Given the description of an element on the screen output the (x, y) to click on. 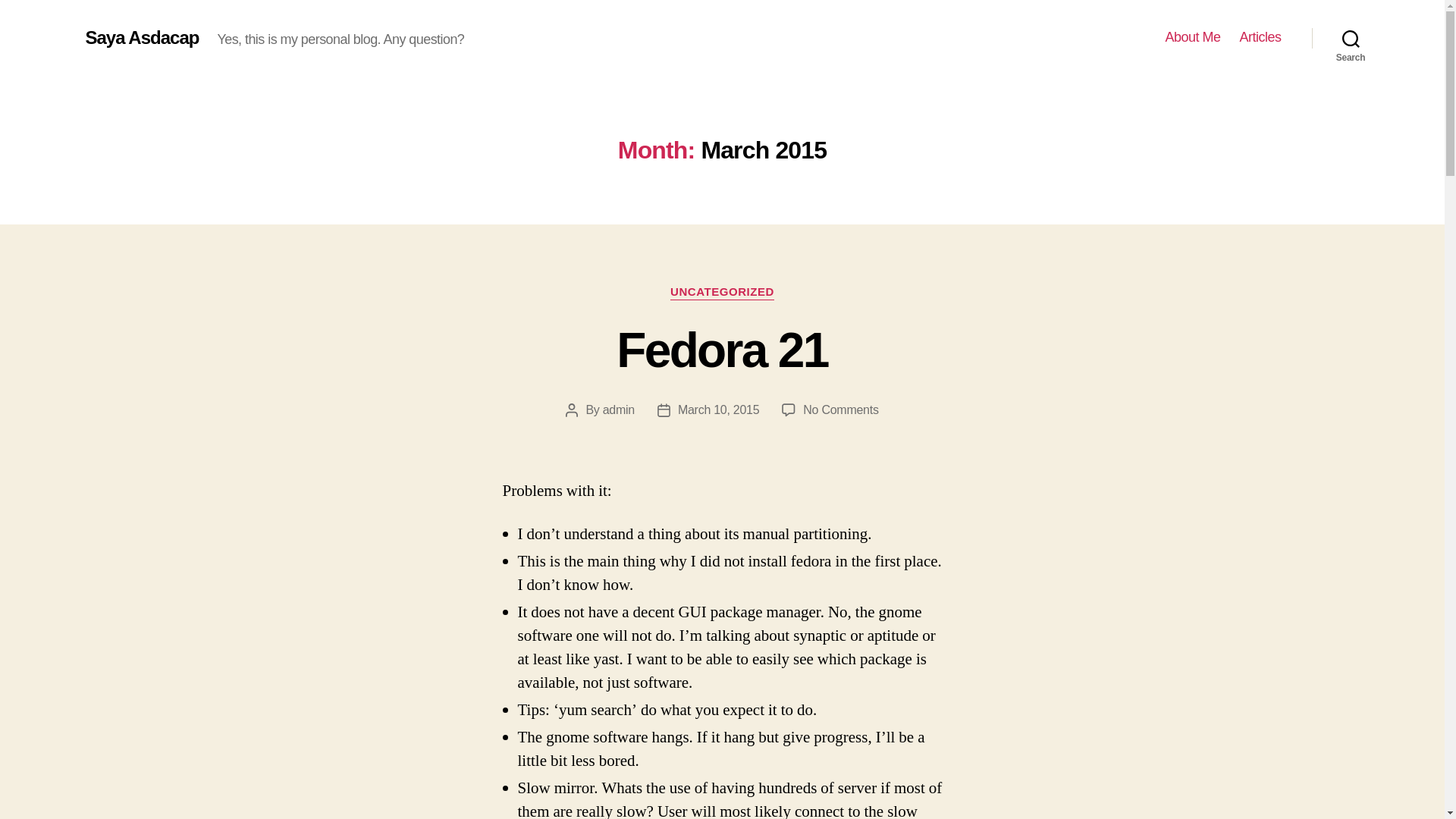
Fedora 21 (721, 349)
Search (1350, 37)
March 10, 2015 (718, 409)
Articles (1260, 37)
Saya Asdacap (141, 37)
UNCATEGORIZED (721, 292)
About Me (1192, 37)
admin (840, 409)
